Given the description of an element on the screen output the (x, y) to click on. 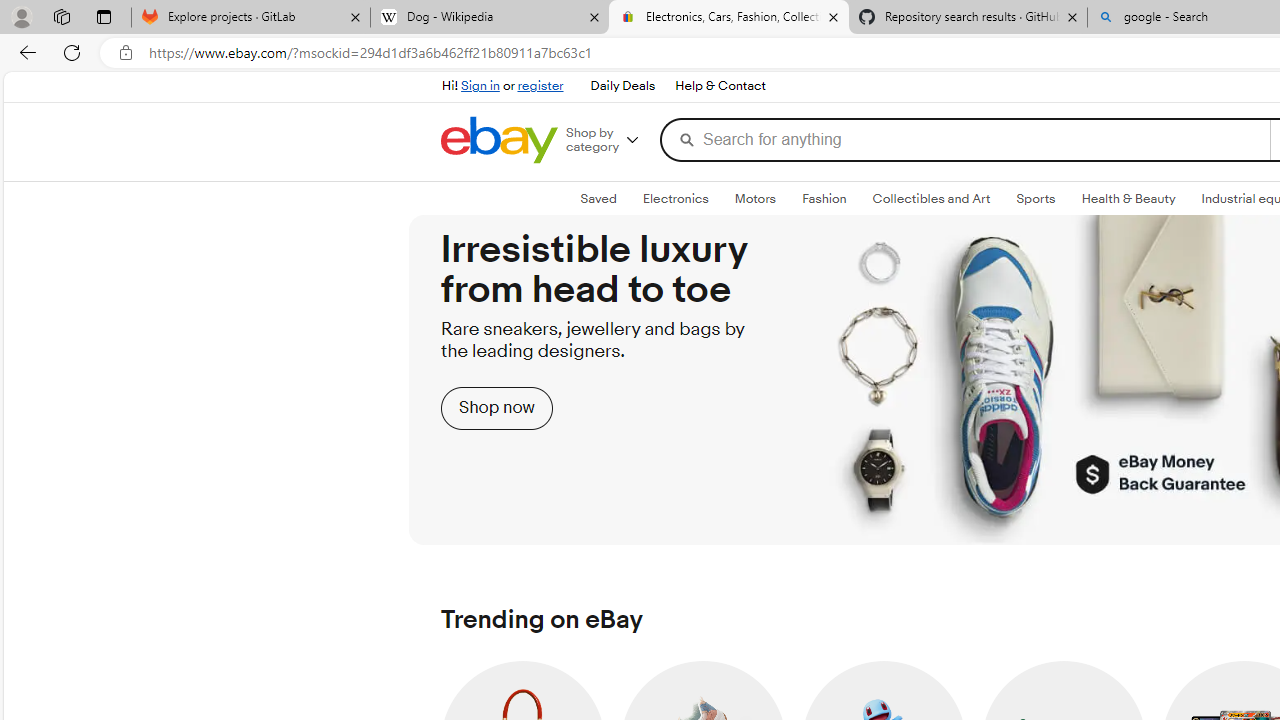
Motors (754, 198)
register (540, 85)
Shop by category (610, 140)
Fashion (824, 198)
Collectibles and ArtExpand: Collectibles and Art (930, 199)
Search for anything (964, 139)
